Given the description of an element on the screen output the (x, y) to click on. 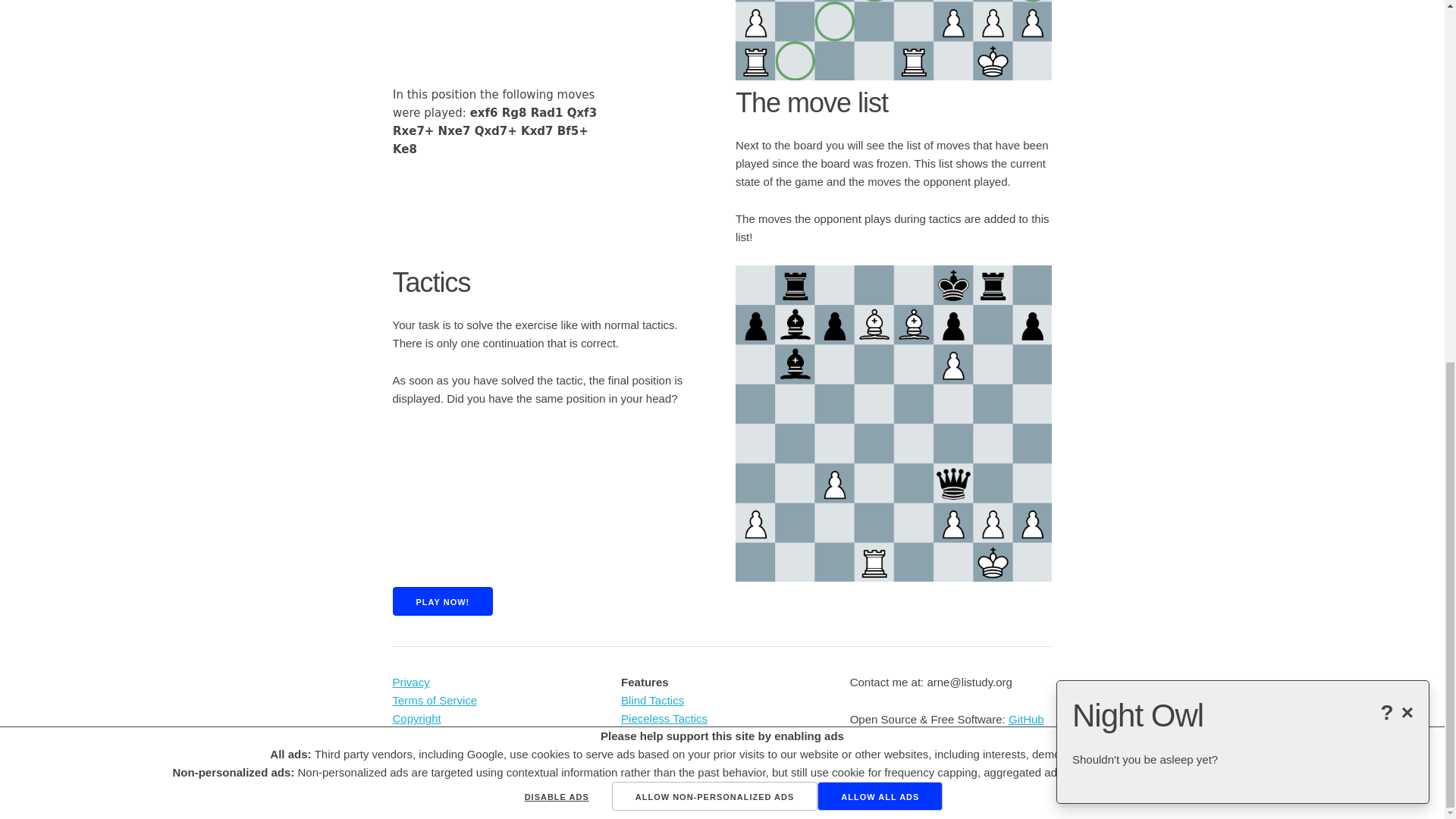
Imprint (410, 736)
Copyright (417, 717)
Terms of Service (435, 699)
Privacy (411, 681)
PLAY NOW! (443, 601)
PLAY NOW! (443, 600)
